Given the description of an element on the screen output the (x, y) to click on. 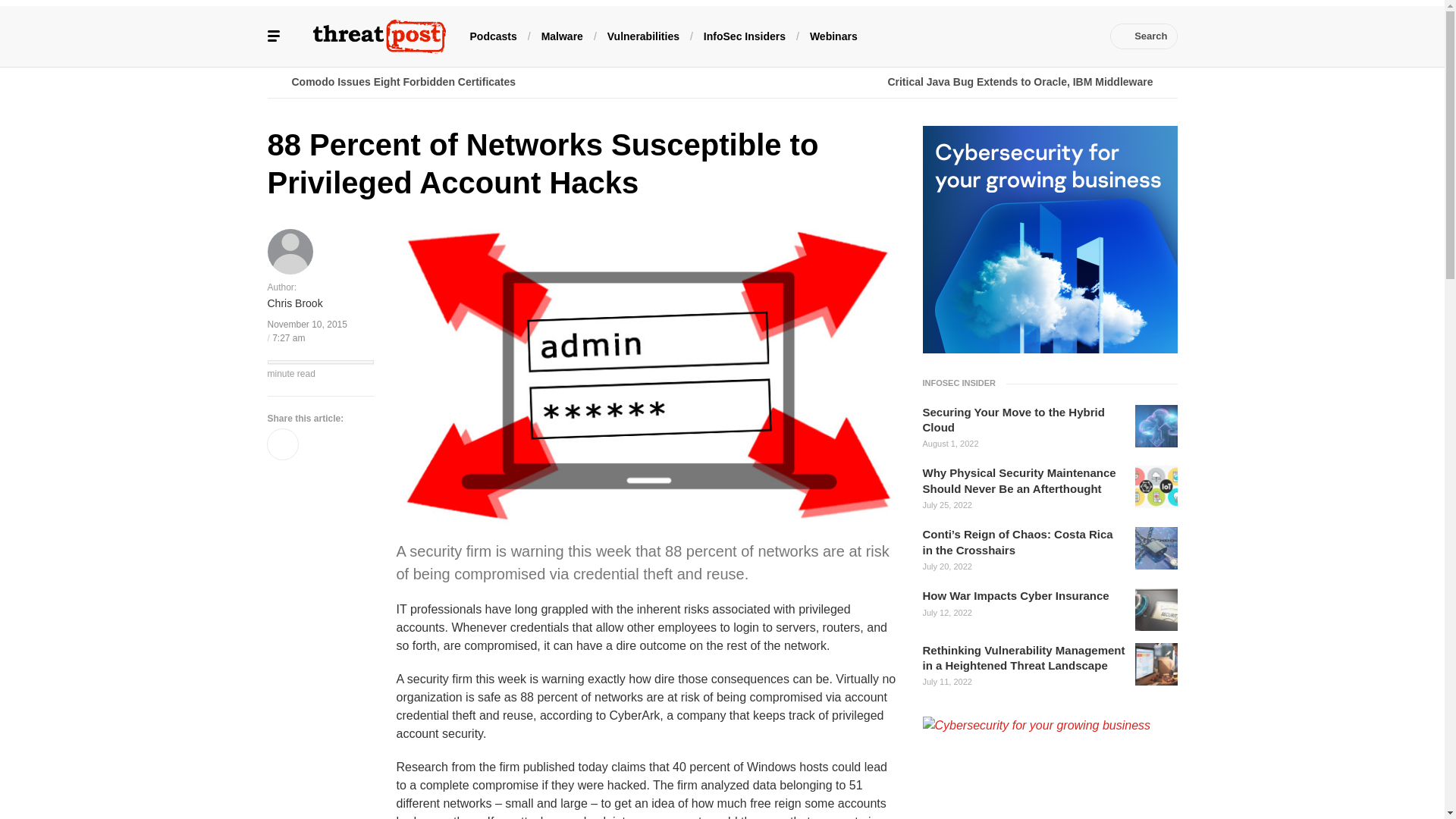
RSS (1080, 36)
Instagram (1057, 36)
Securing Your Move to the Hybrid Cloud (1023, 419)
InfoSec Insiders (744, 35)
Twitter (966, 36)
Facebook (944, 36)
LinkedIn (989, 36)
Threatpost (379, 36)
Chris Brook (293, 303)
Malware (562, 35)
